Given the description of an element on the screen output the (x, y) to click on. 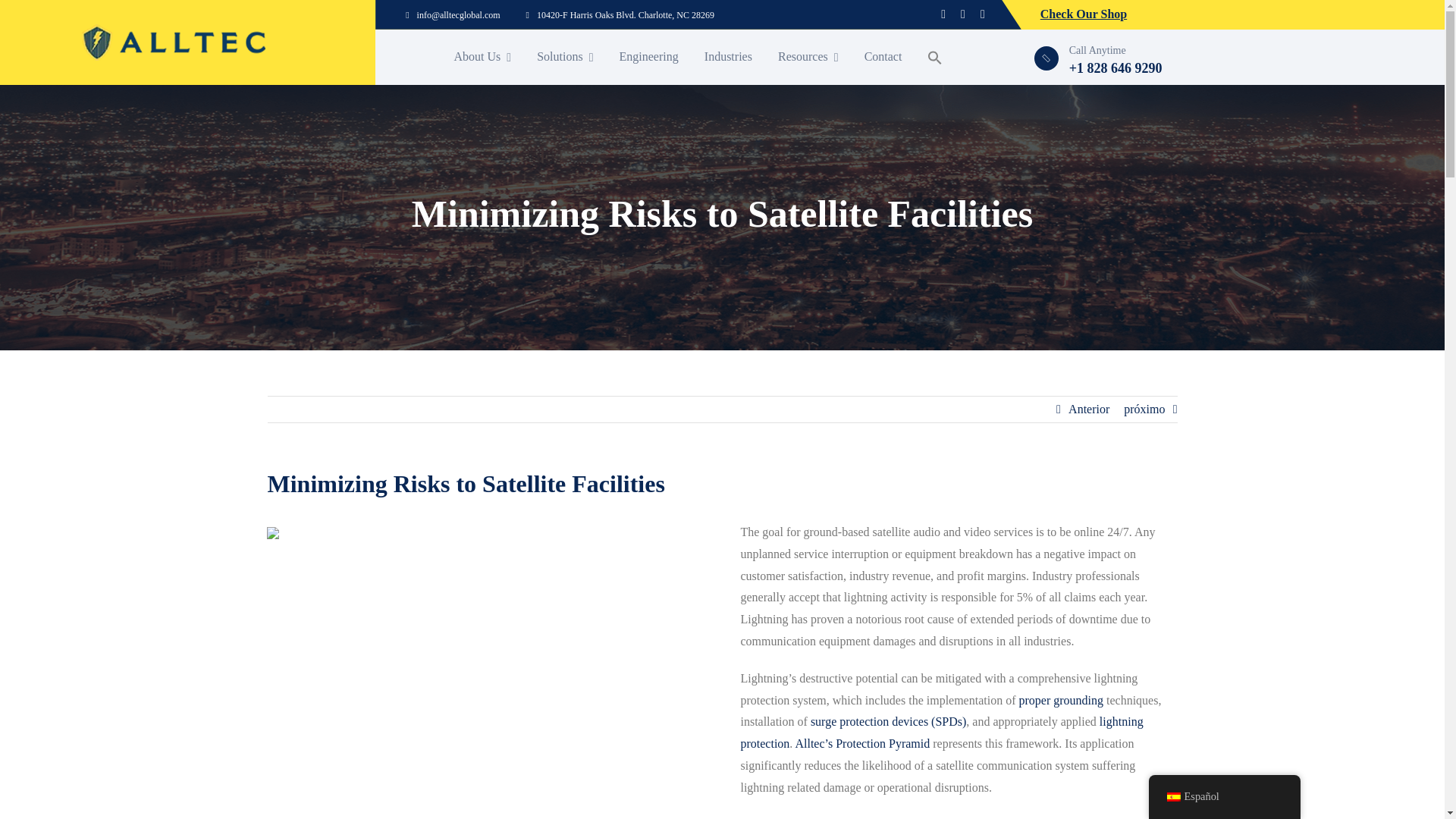
Solutions (564, 56)
10420-F Harris Oaks Blvd. Charlotte, NC 28269 (619, 14)
Check Our Shop (1083, 13)
About Us (481, 56)
